Given the description of an element on the screen output the (x, y) to click on. 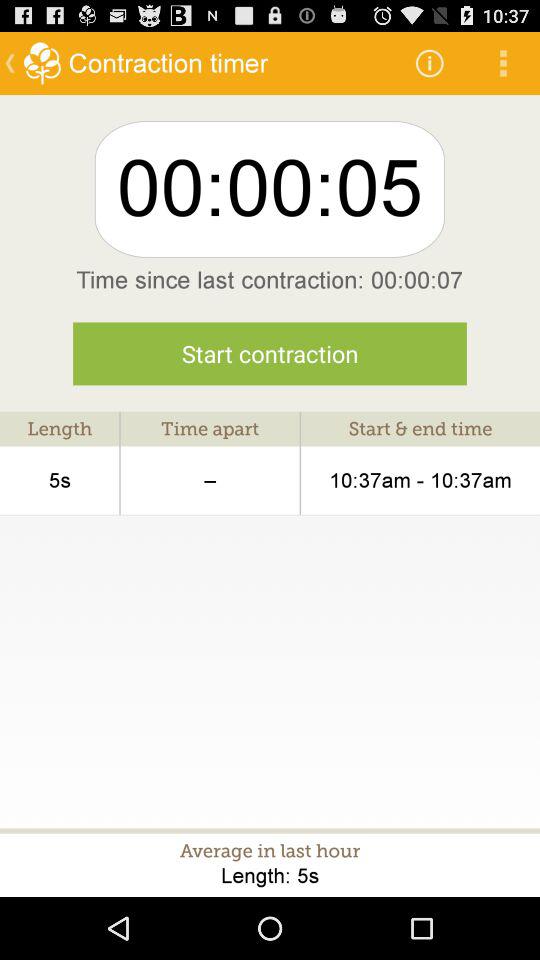
scroll until the 10 37am 10 (420, 480)
